Given the description of an element on the screen output the (x, y) to click on. 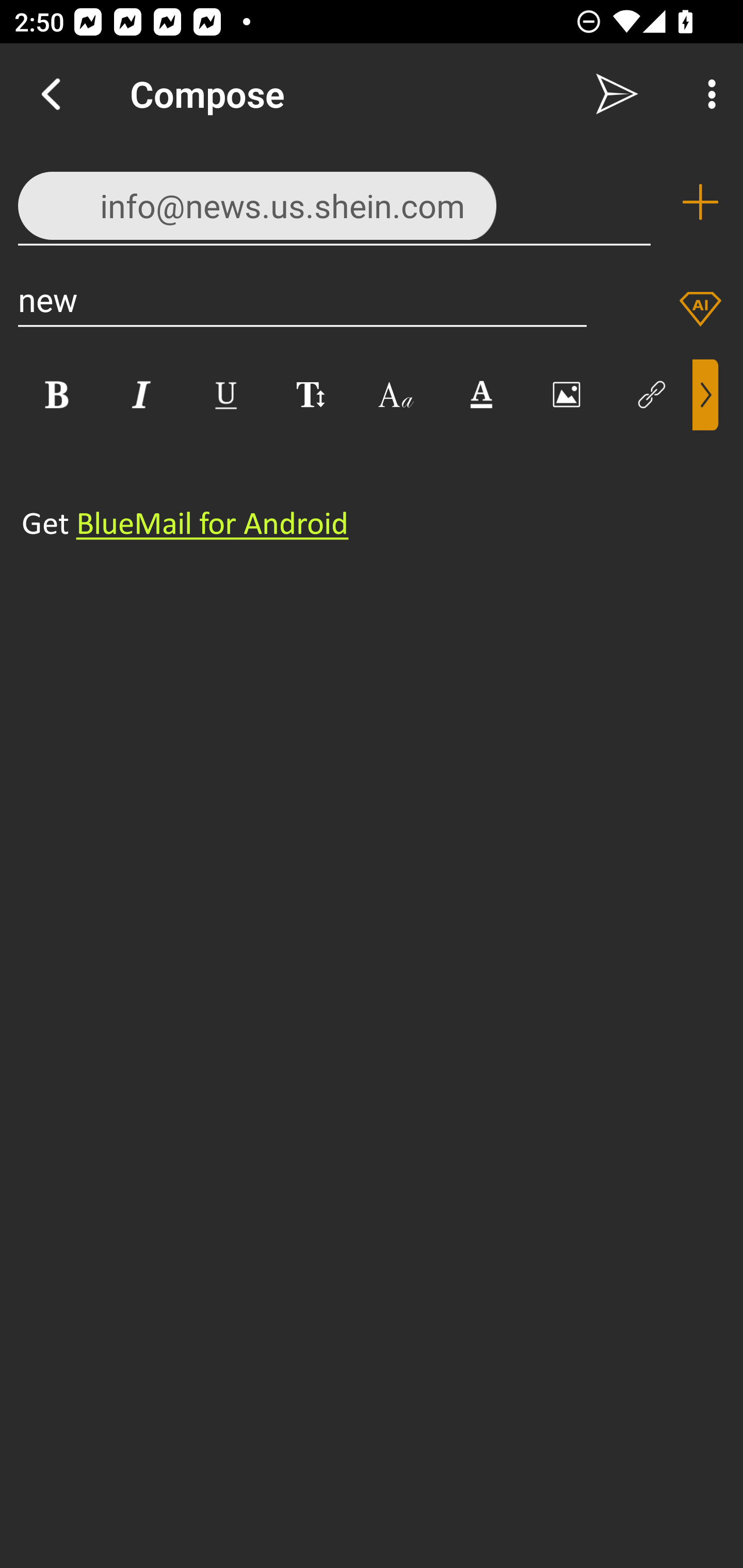
Navigate up (50, 93)
Send (616, 93)
More Options (706, 93)
<info@news.us.shein.com>,  (334, 201)
Add recipient (To) (699, 201)
new (302, 299)


⁣Get BlueMail for Android ​ (355, 491)
